Given the description of an element on the screen output the (x, y) to click on. 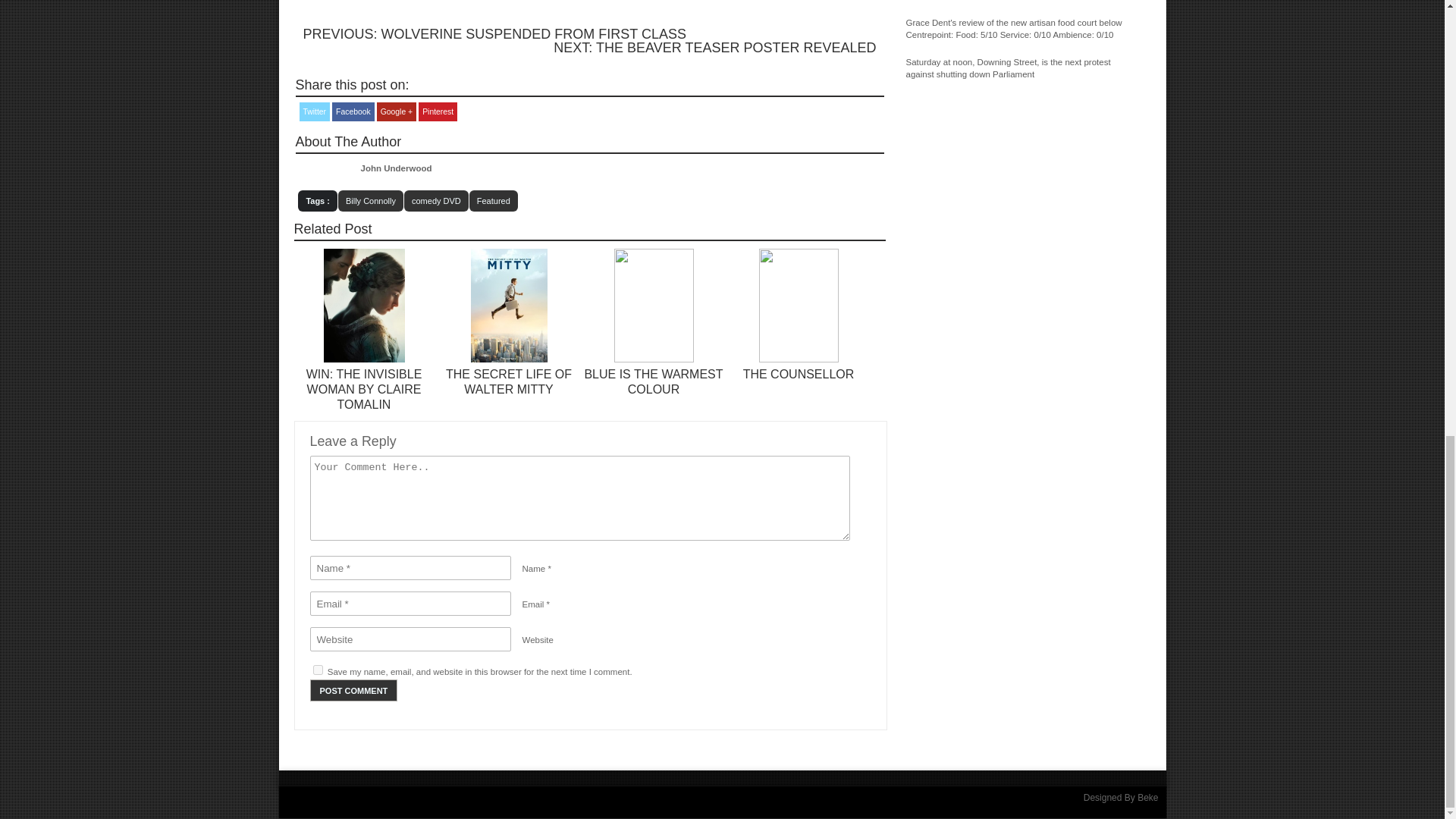
WIN: THE INVISIBLE WOMAN BY CLAIRE TOMALIN (363, 389)
Billy Connolly (370, 200)
The Counsellor (798, 373)
Share on Facebook! (352, 111)
yes (317, 669)
comedy DVD (436, 200)
Blue Is the Warmest Colour (654, 358)
Post Comment (352, 690)
THE SECRET LIFE OF WALTER MITTY (508, 381)
Blue Is the Warmest Colour (652, 381)
WIN: The Invisible Woman by Claire Tomalin (363, 358)
Tweet this! (314, 111)
Featured (493, 200)
Posts by John Underwood (396, 167)
Twitter (314, 111)
